Given the description of an element on the screen output the (x, y) to click on. 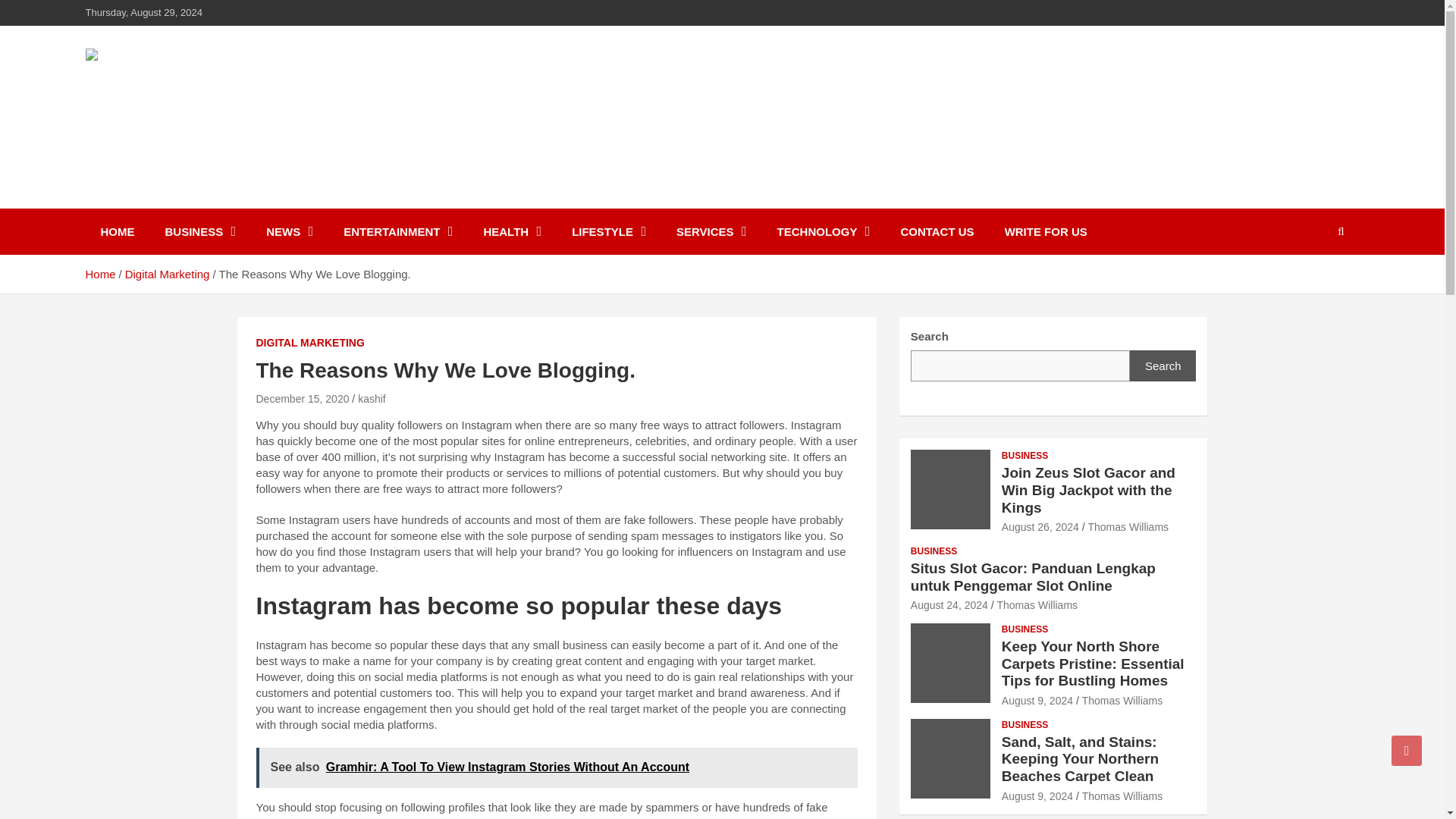
Join Zeus Slot Gacor and Win Big Jackpot with the Kings (1039, 526)
HOME (116, 231)
ENTERTAINMENT (398, 231)
SERVICES (711, 231)
NEWS (289, 231)
BUSINESS (200, 231)
CONTACT US (936, 231)
